Given the description of an element on the screen output the (x, y) to click on. 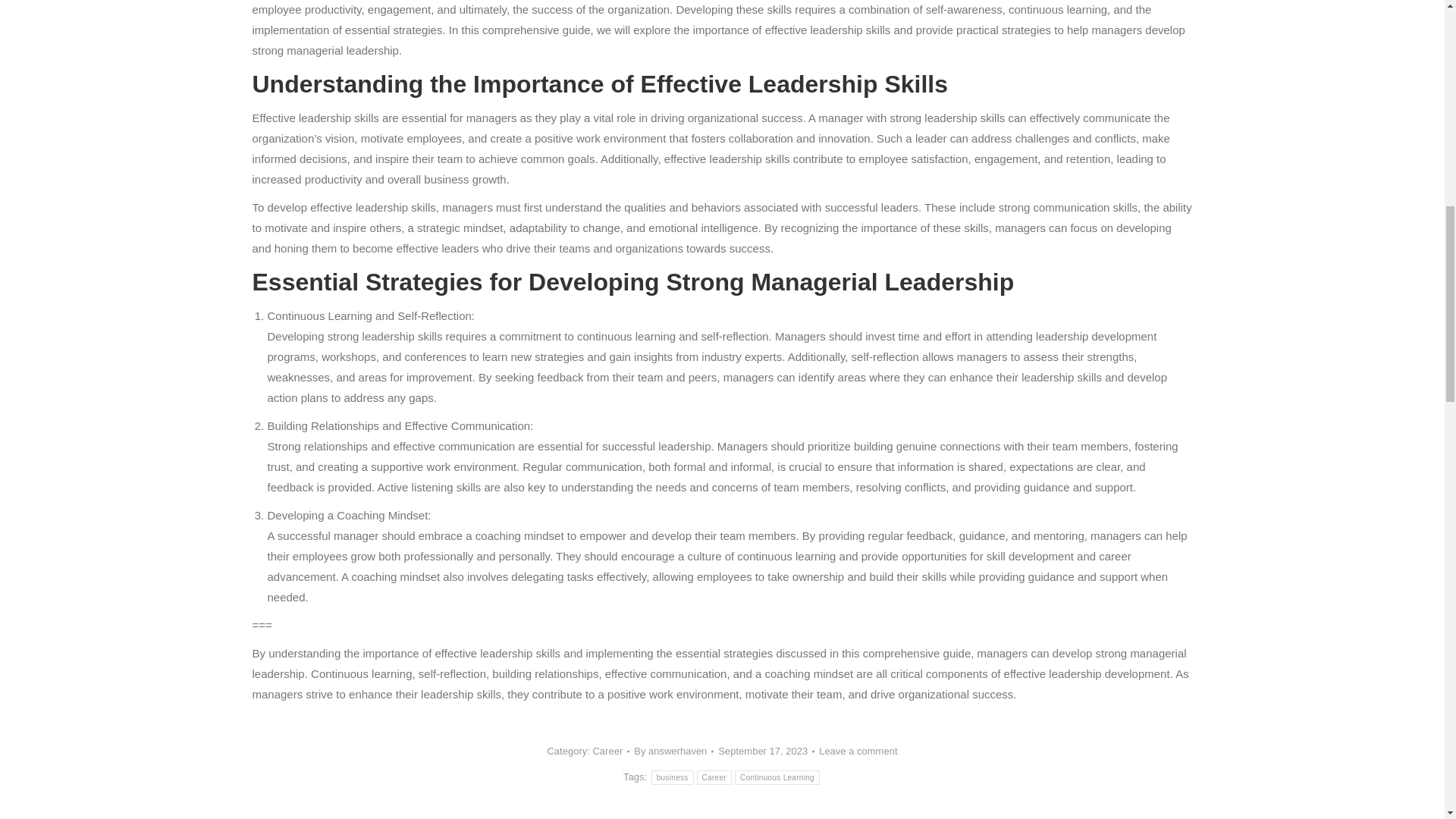
Career (607, 750)
By answerhaven (673, 751)
business (672, 777)
View all posts by answerhaven (673, 751)
September 17, 2023 (765, 751)
Leave a comment (857, 751)
12:23 pm (765, 751)
